Given the description of an element on the screen output the (x, y) to click on. 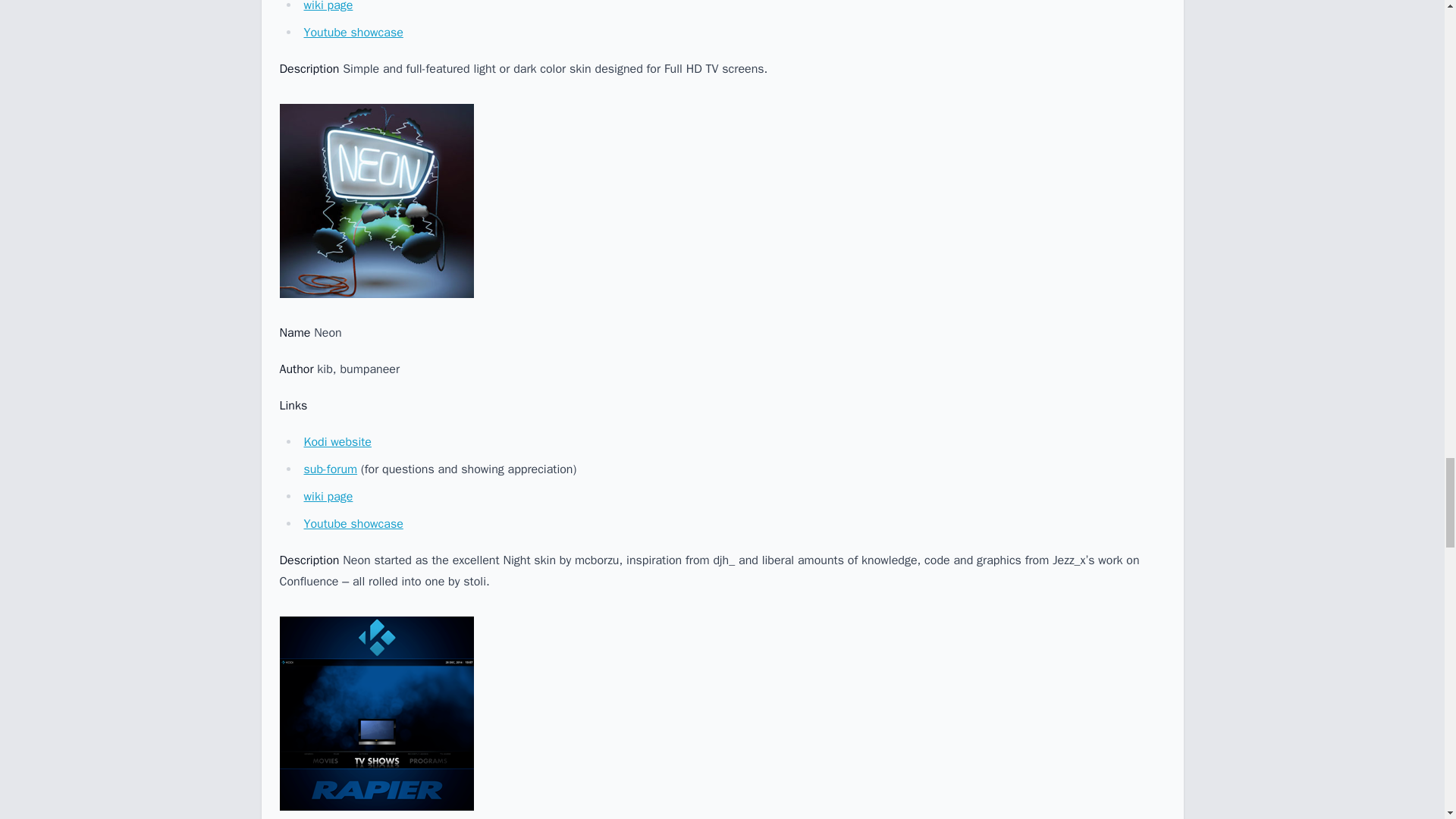
wiki page (327, 6)
